Given the description of an element on the screen output the (x, y) to click on. 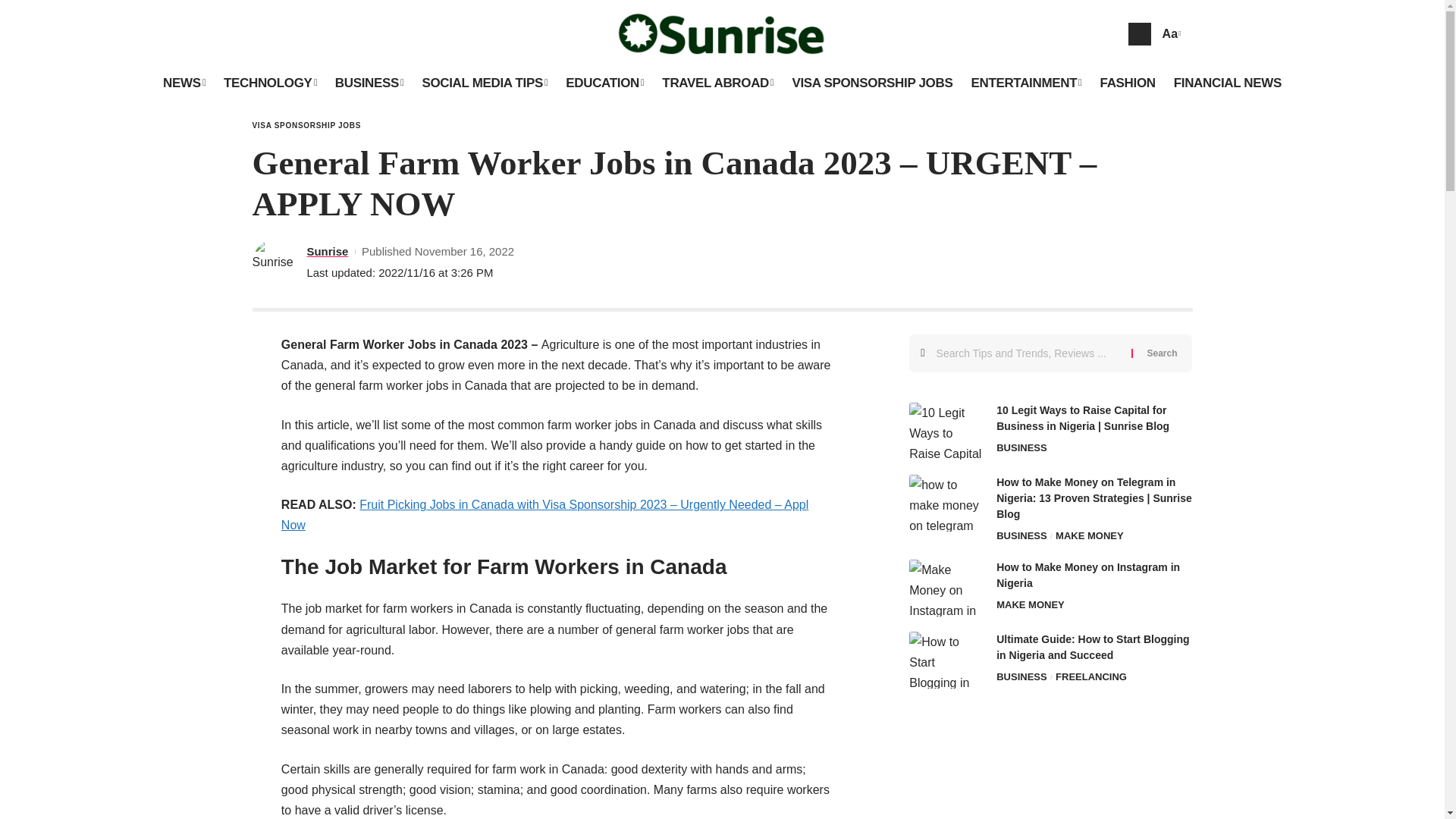
Aa (1169, 33)
TECHNOLOGY (270, 82)
NEWS (184, 82)
BUSINESS (369, 82)
SunRise (722, 33)
Search (1161, 353)
